Given the description of an element on the screen output the (x, y) to click on. 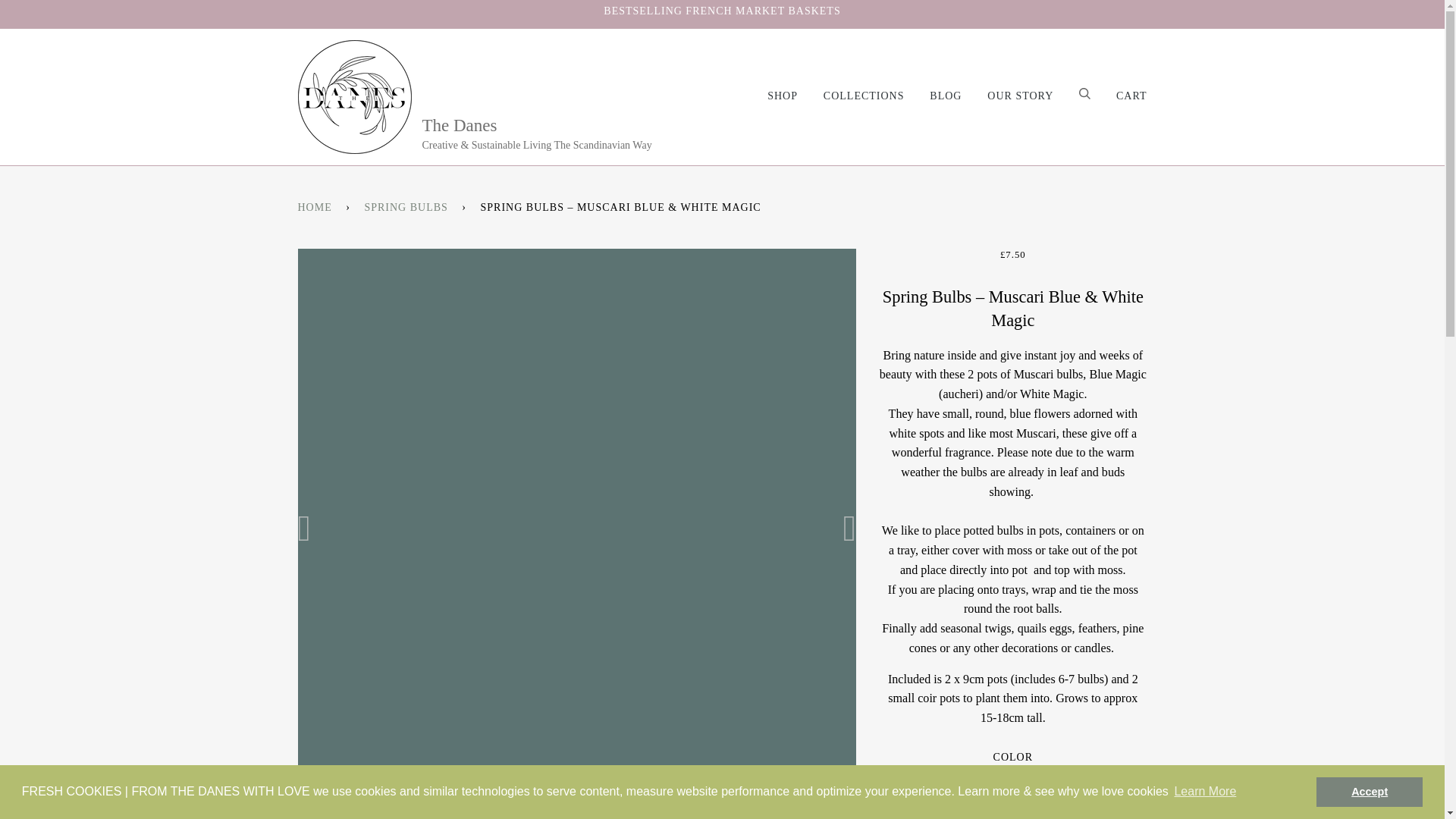
Back to the frontpage (316, 207)
COLLECTIONS (852, 95)
1 (1012, 817)
BESTSELLING FRENCH MARKET BASKETS (722, 10)
Accept (1369, 791)
Learn More (1205, 791)
